Given the description of an element on the screen output the (x, y) to click on. 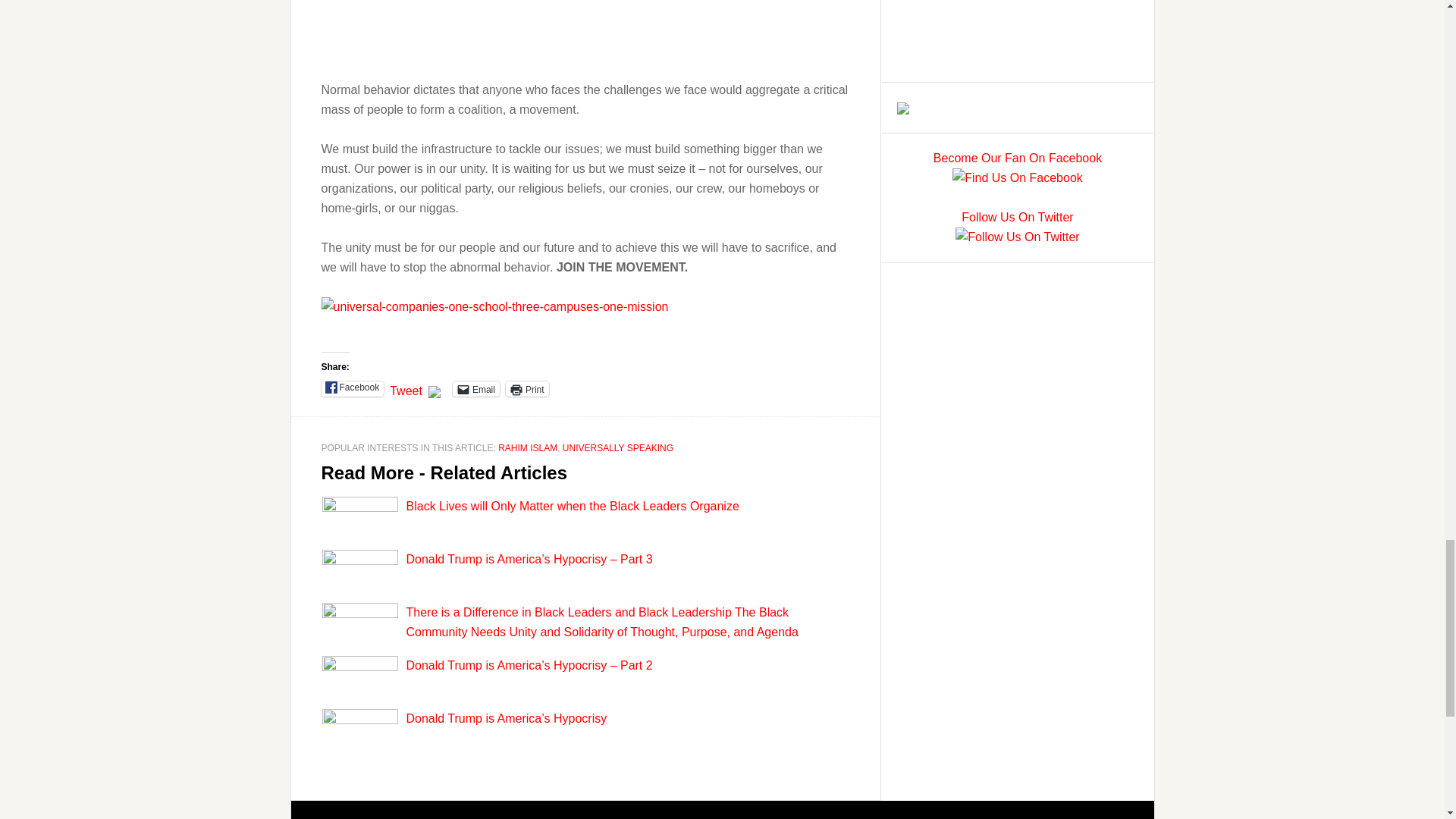
Email (475, 388)
Click to share on Facebook (352, 388)
Click to print (526, 388)
Black Lives will Only Matter when the Black Leaders Organize (572, 505)
Black Lives will Only Matter when the Black Leaders Organize (572, 505)
RAHIM ISLAM (527, 448)
UNIVERSALLY SPEAKING (617, 448)
Print (526, 388)
